Given the description of an element on the screen output the (x, y) to click on. 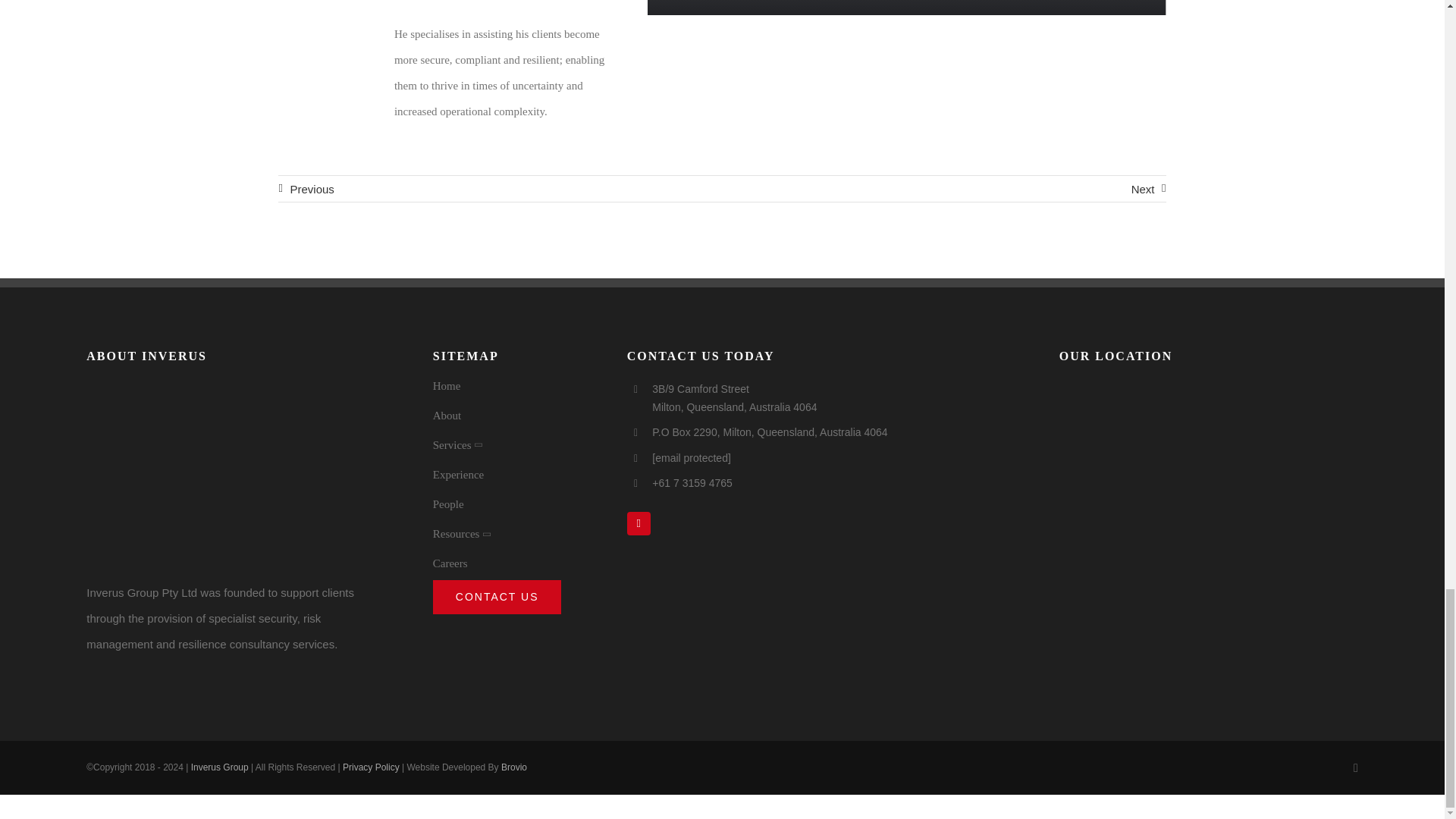
LinkedIn (638, 523)
pexels david yu 2081166 (235, 472)
Previous (305, 188)
Home (516, 387)
About (516, 417)
Next (1148, 188)
Services (516, 446)
